Given the description of an element on the screen output the (x, y) to click on. 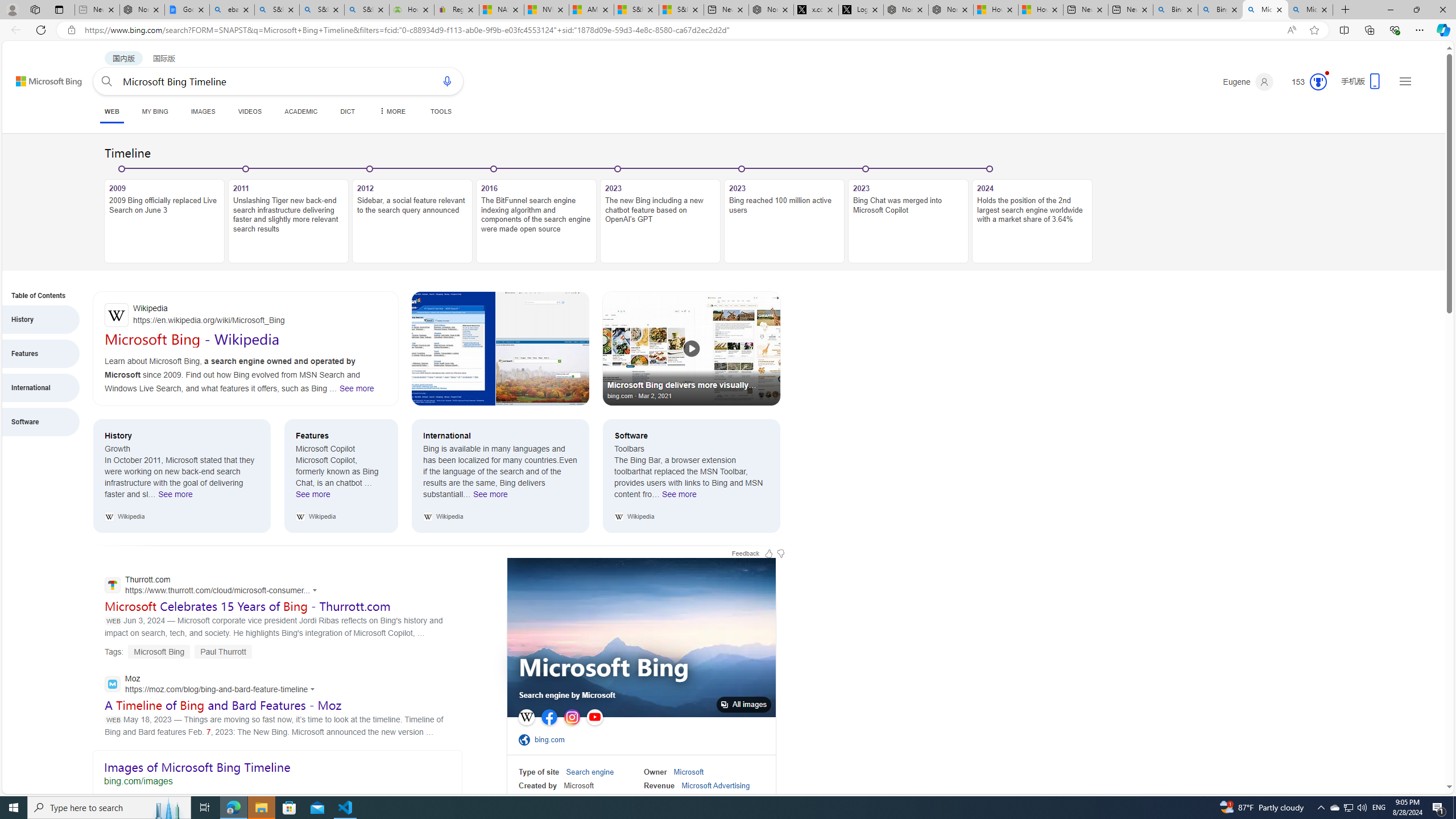
Microsoft Bing (603, 668)
Google Docs: Online Document Editor | Google Workspace (187, 9)
AutomationID: mfa_root (1406, 752)
Dropdown Menu (391, 111)
VIDEOS (249, 111)
Class: medal-circled (1317, 81)
Bing AI - Search (1220, 9)
